Given the description of an element on the screen output the (x, y) to click on. 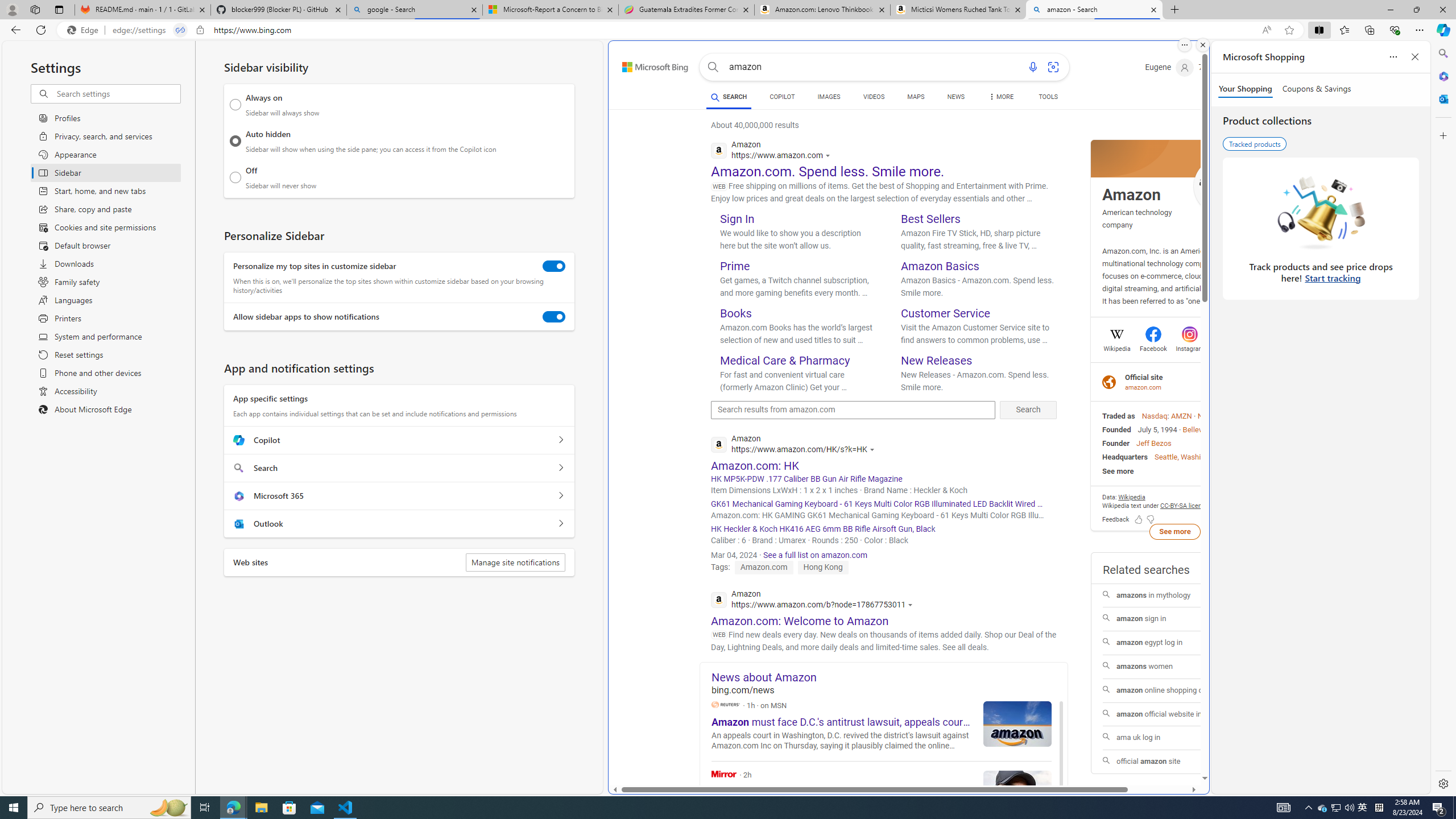
More options. (1183, 45)
MAPS (915, 96)
amazon egypt log in (1174, 642)
TOOLS (1048, 96)
Jeff Bezos (1153, 442)
Founded (1116, 429)
amazon official website india (1174, 714)
amazon.com (1144, 387)
Search using voice (1032, 66)
See a full list on amazon.com (814, 555)
Amazon.com. Spend less. Smile more. (827, 170)
amazon egypt log in (1174, 643)
